Given the description of an element on the screen output the (x, y) to click on. 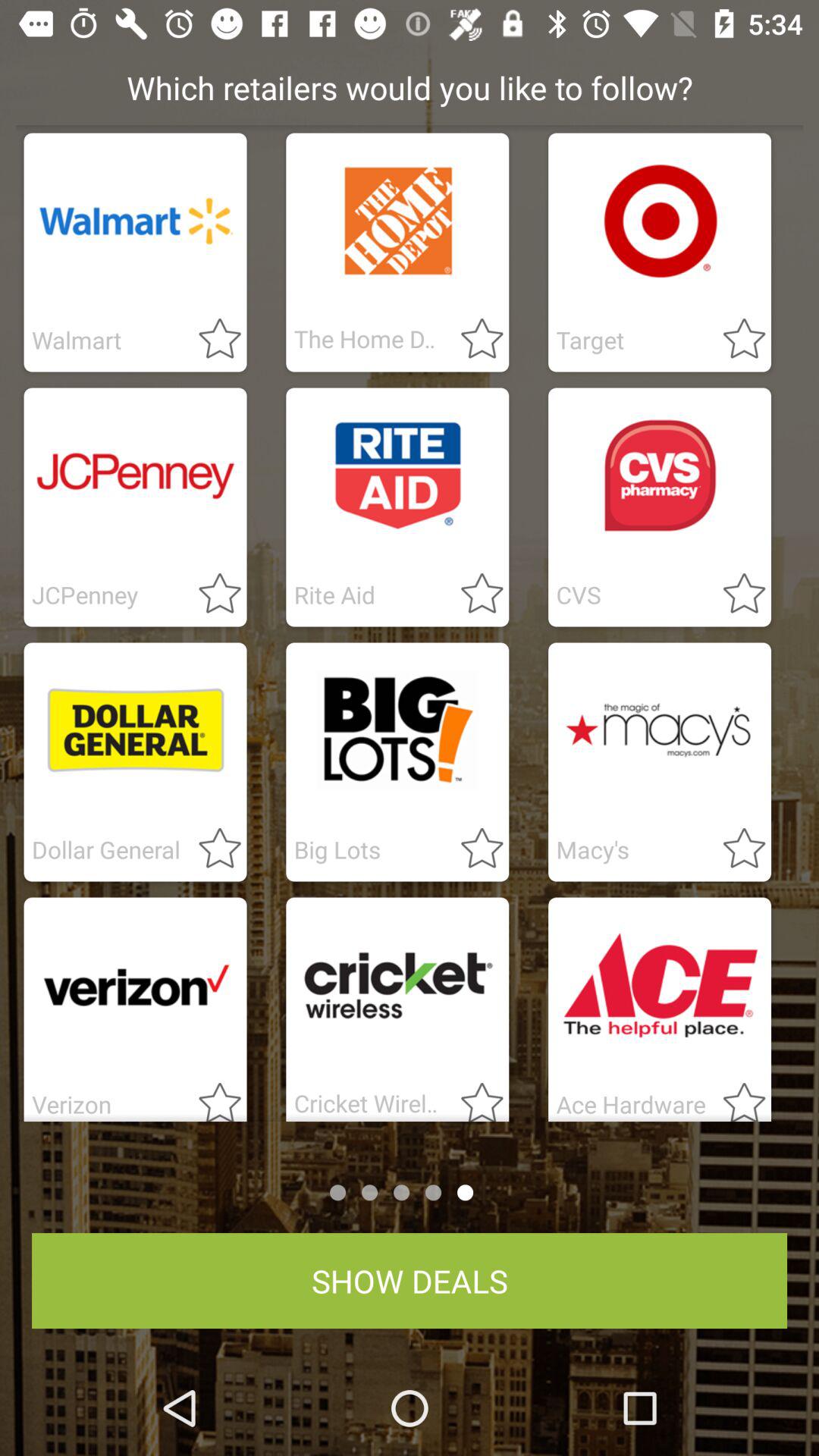
save as favorite (473, 1096)
